Given the description of an element on the screen output the (x, y) to click on. 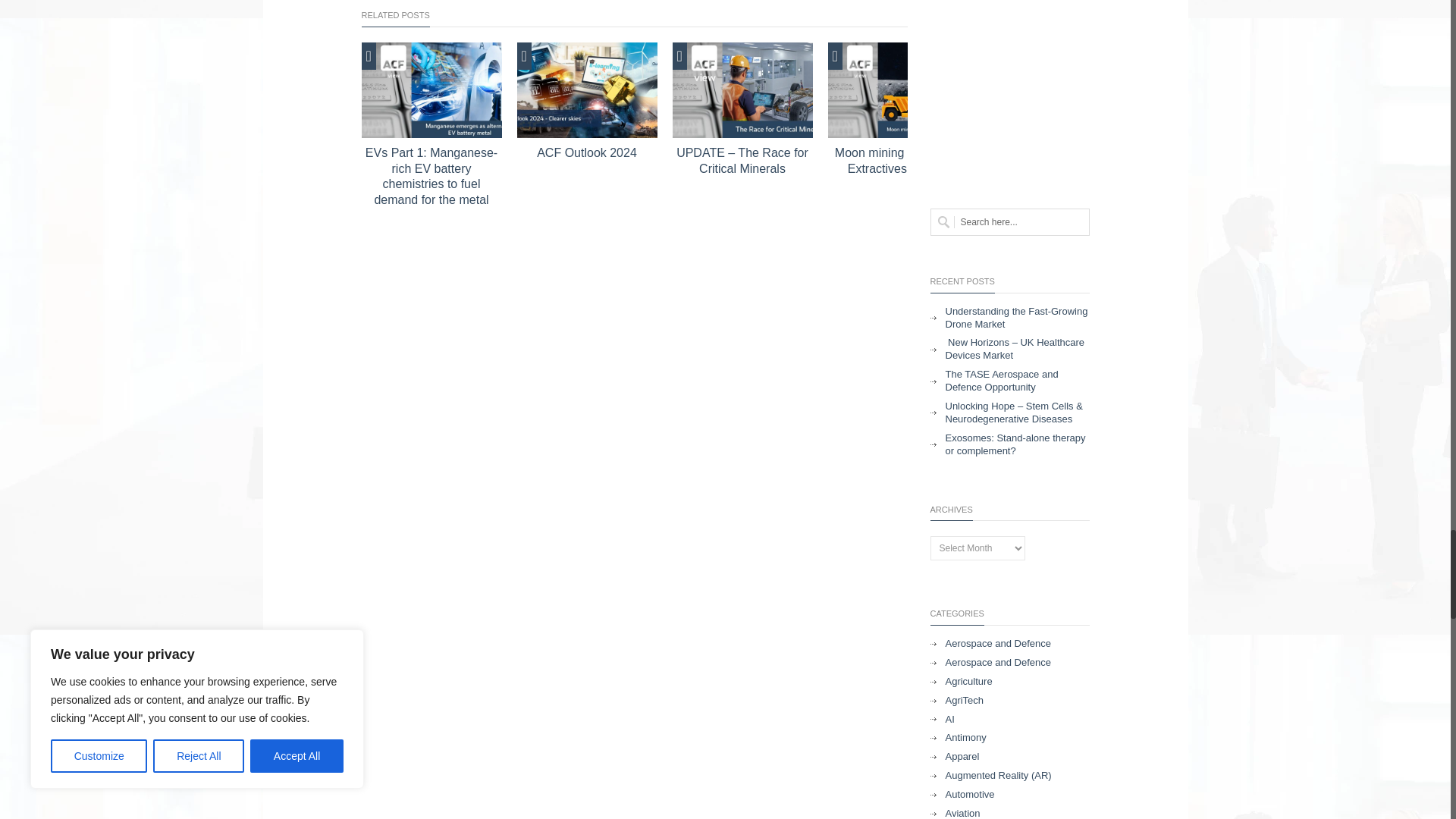
Search here... (1009, 221)
ACF Outlook 2024 (587, 90)
